Given the description of an element on the screen output the (x, y) to click on. 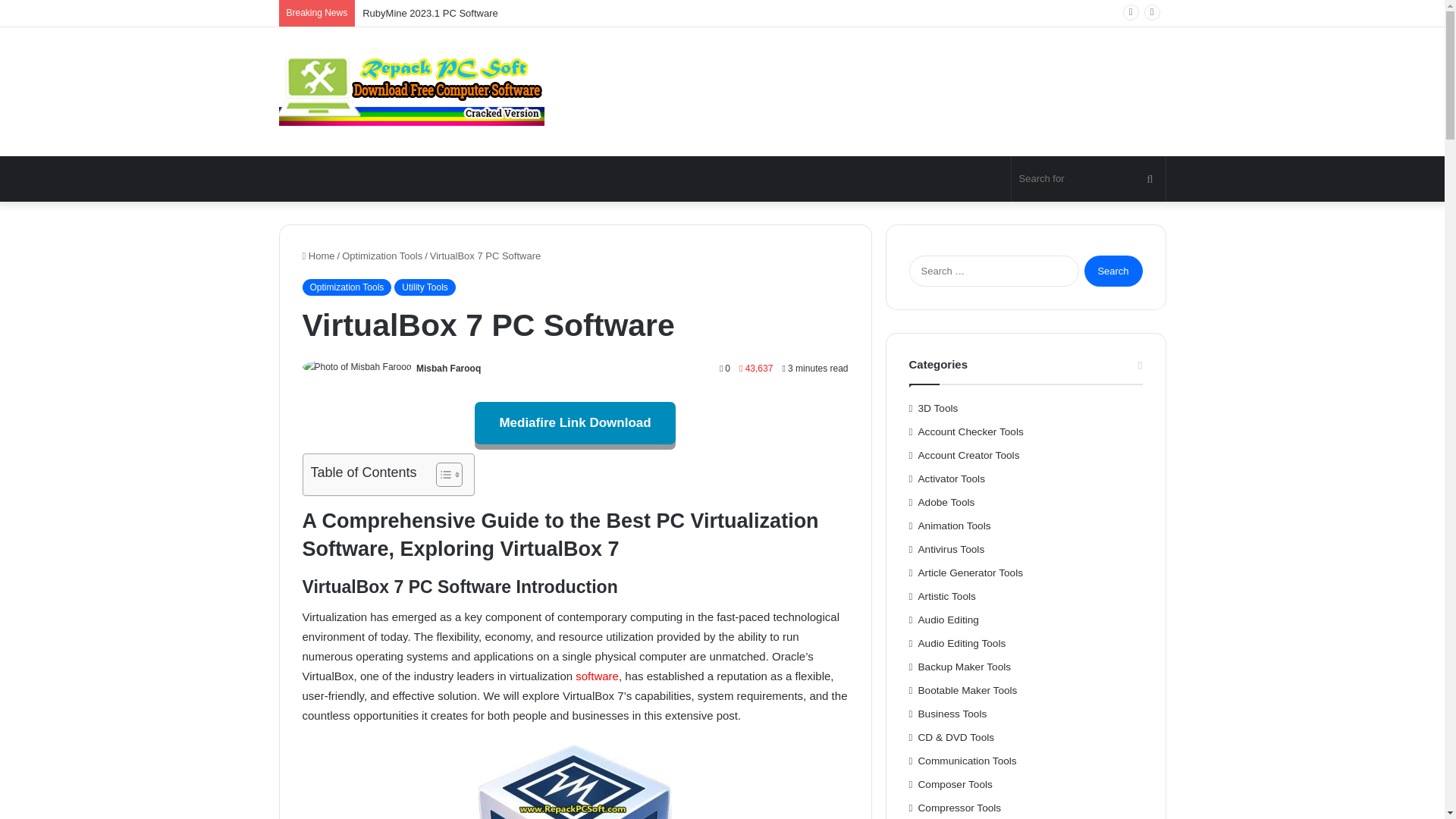
Utility Tools (424, 287)
software (596, 675)
Optimization Tools (346, 287)
VirtualBox 7 PC Software (575, 781)
Search (1113, 270)
RubyMine 2023.1 PC Software (429, 12)
Search for (1088, 178)
Home (317, 255)
Misbah Farooq (448, 368)
Search (1113, 270)
Mediafire Link Download (574, 423)
Optimization Tools (382, 255)
Misbah Farooq (448, 368)
Latest Software Pre Activated - Cracked Free Download (411, 91)
